Given the description of an element on the screen output the (x, y) to click on. 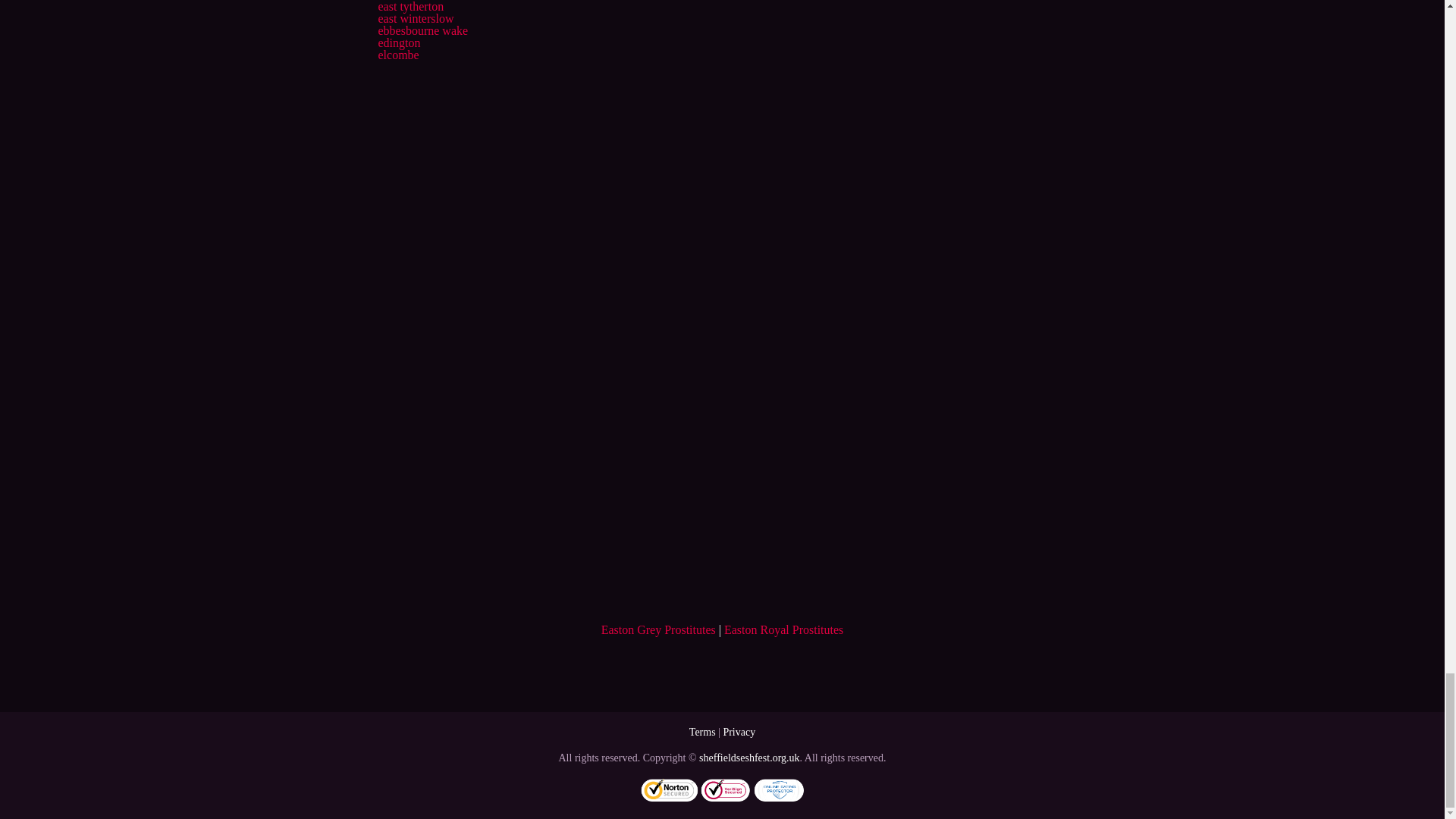
Terms (702, 731)
east winterslow (414, 18)
east town (400, 0)
sheffieldseshfest.org.uk (748, 757)
Easton Grey Prostitutes (658, 629)
Easton Royal Prostitutes (783, 629)
Privacy (738, 731)
east tytherton (410, 6)
edington (398, 42)
Privacy (738, 731)
